Given the description of an element on the screen output the (x, y) to click on. 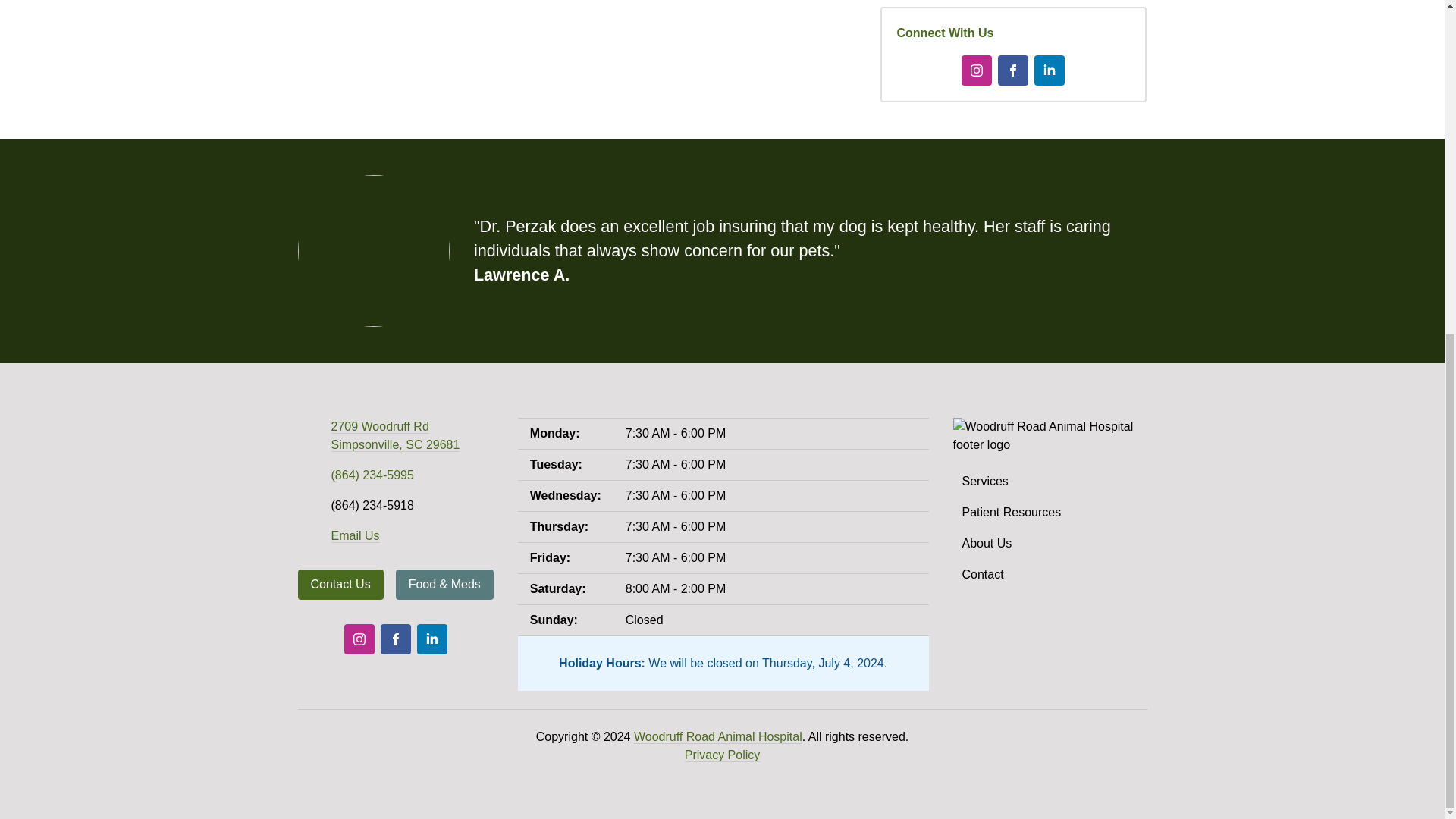
Email Us (354, 535)
Facebook (1012, 70)
Facebook (395, 639)
LinkedIn (1048, 70)
Instagram (975, 70)
LinkedIn (431, 639)
Call Us (371, 475)
Contact Us (339, 584)
Instagram (358, 639)
Open this Address on Google Maps (395, 436)
